Given the description of an element on the screen output the (x, y) to click on. 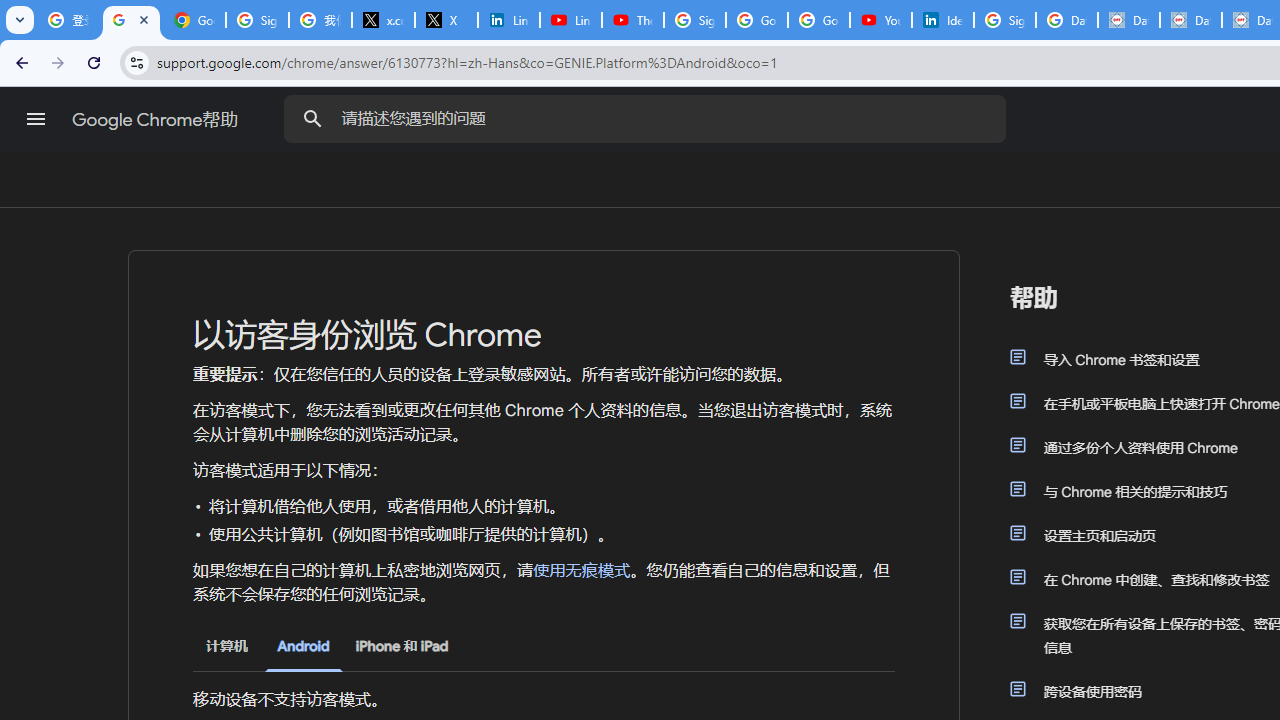
Back (19, 62)
View site information (136, 62)
Identity verification via Persona | LinkedIn Help (942, 20)
X (445, 20)
Search tabs (20, 20)
Sign in - Google Accounts (257, 20)
Reload (93, 62)
Data Privacy Framework (1128, 20)
